Given the description of an element on the screen output the (x, y) to click on. 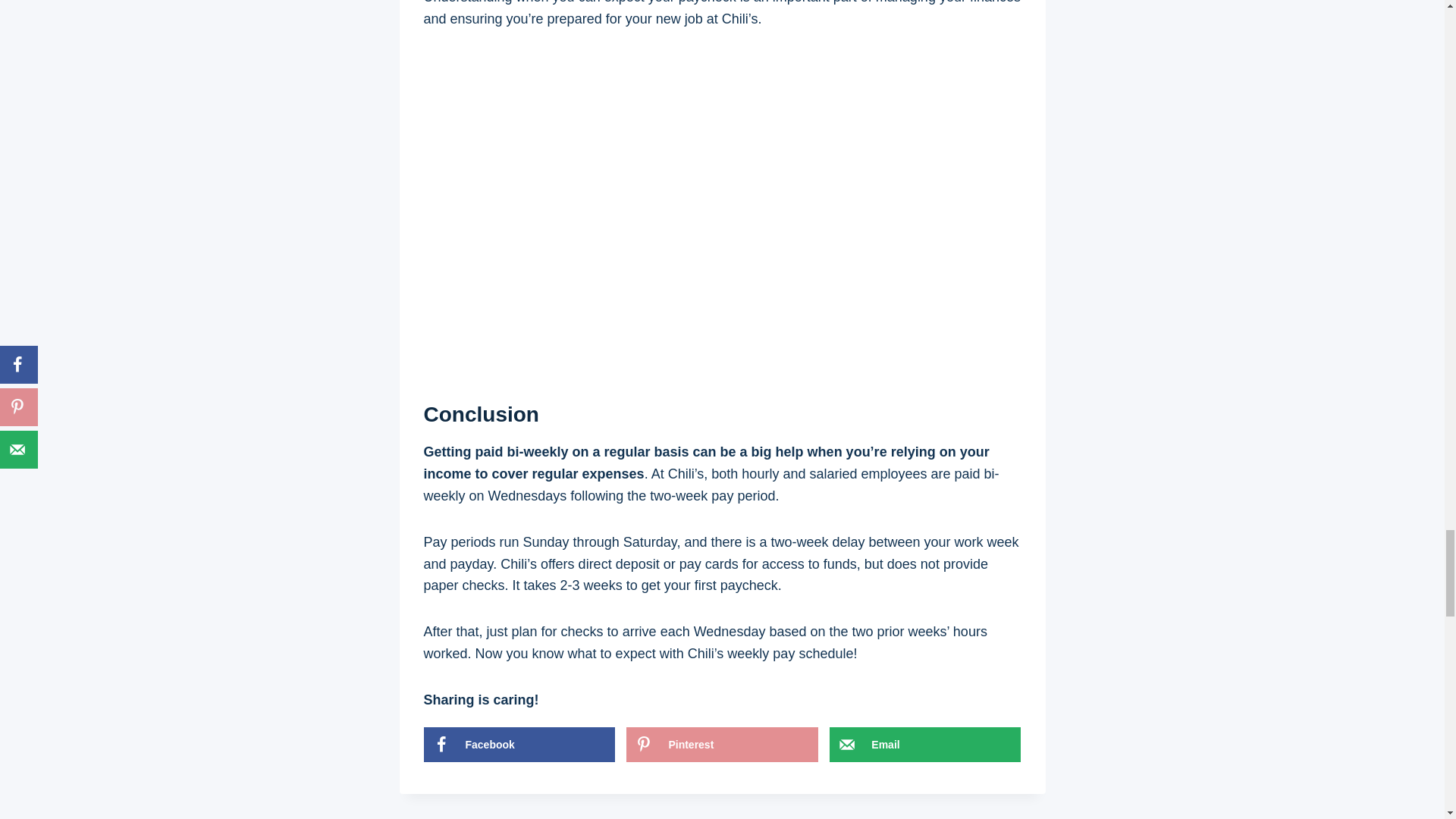
Send over email (924, 744)
Facebook (518, 744)
Save to Pinterest (721, 744)
Pinterest (721, 744)
Share on Facebook (518, 744)
Email (924, 744)
